Given the description of an element on the screen output the (x, y) to click on. 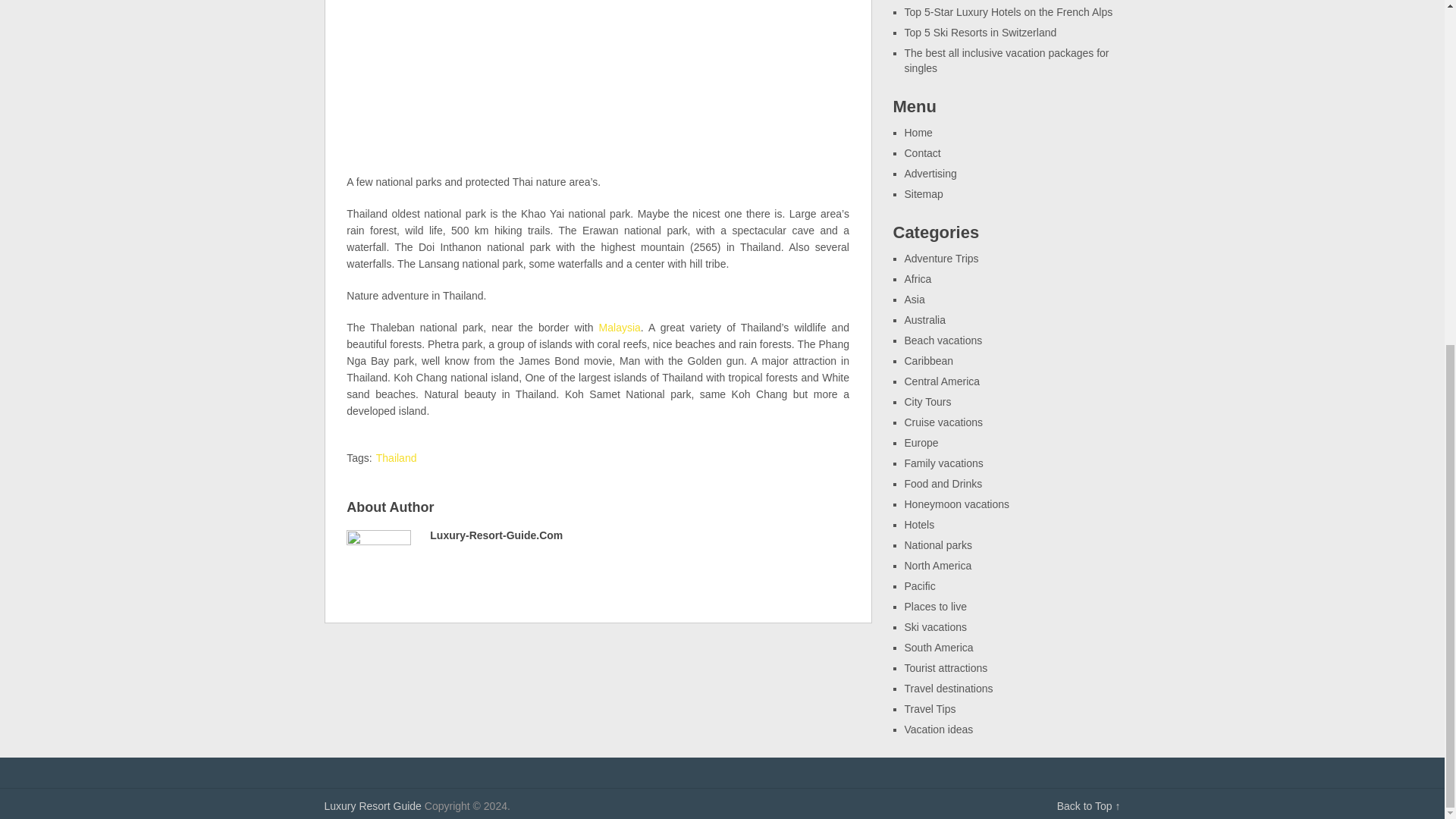
Luxury Holidays (373, 806)
Thailand (395, 458)
Malaysia (619, 327)
